Given the description of an element on the screen output the (x, y) to click on. 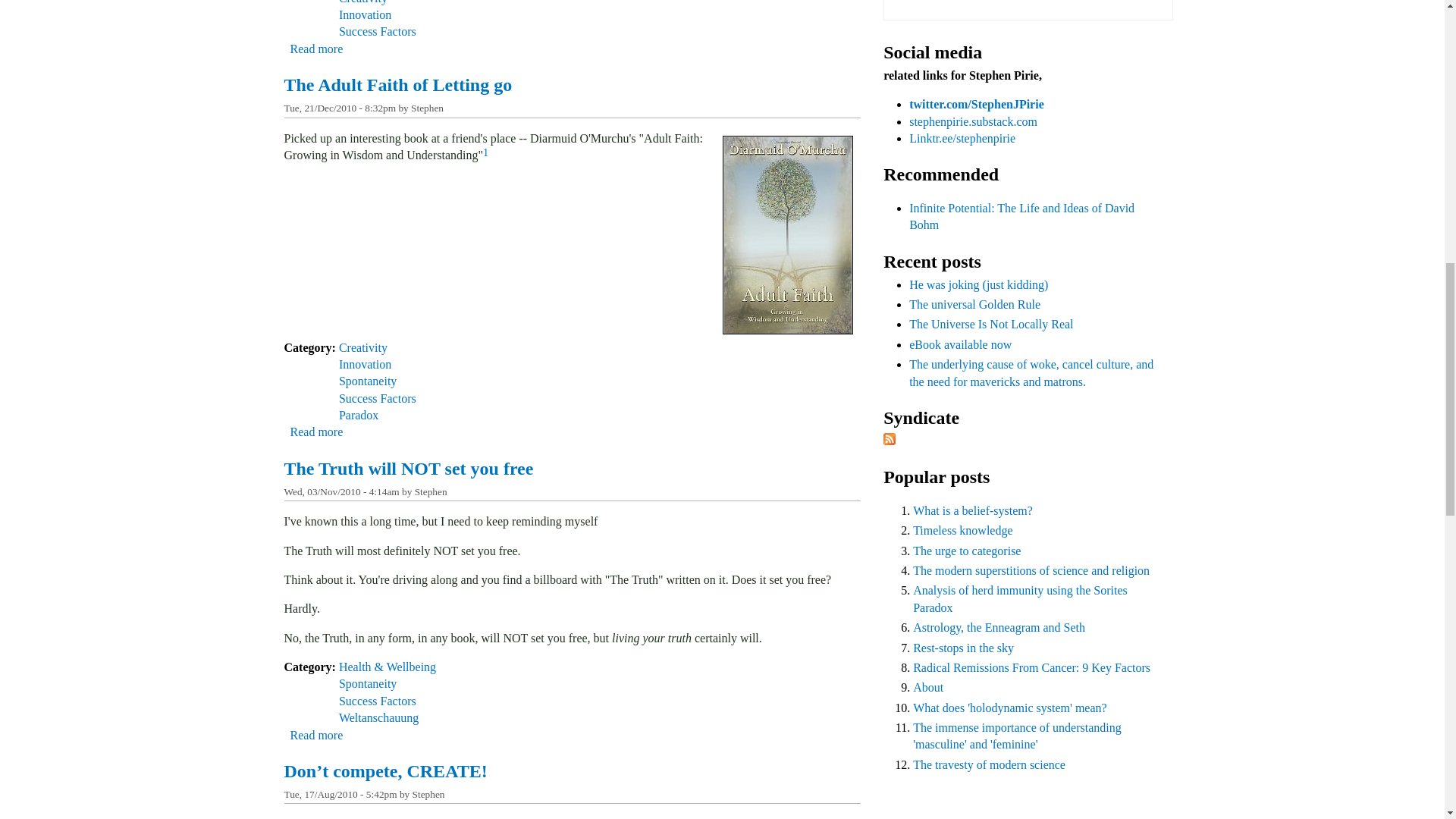
Creativity (363, 2)
Spontaneity (367, 380)
Innovation (365, 364)
Creativity, Competition and Depression (315, 48)
The Truth will NOT set you free (315, 735)
Success Factors (315, 735)
The Truth will NOT set you free (377, 31)
Creativity (407, 468)
Success Factors (363, 347)
Innovation (315, 431)
Subscribe to RSS - Success Factors (377, 398)
The Adult Faith of Letting go (365, 14)
